Given the description of an element on the screen output the (x, y) to click on. 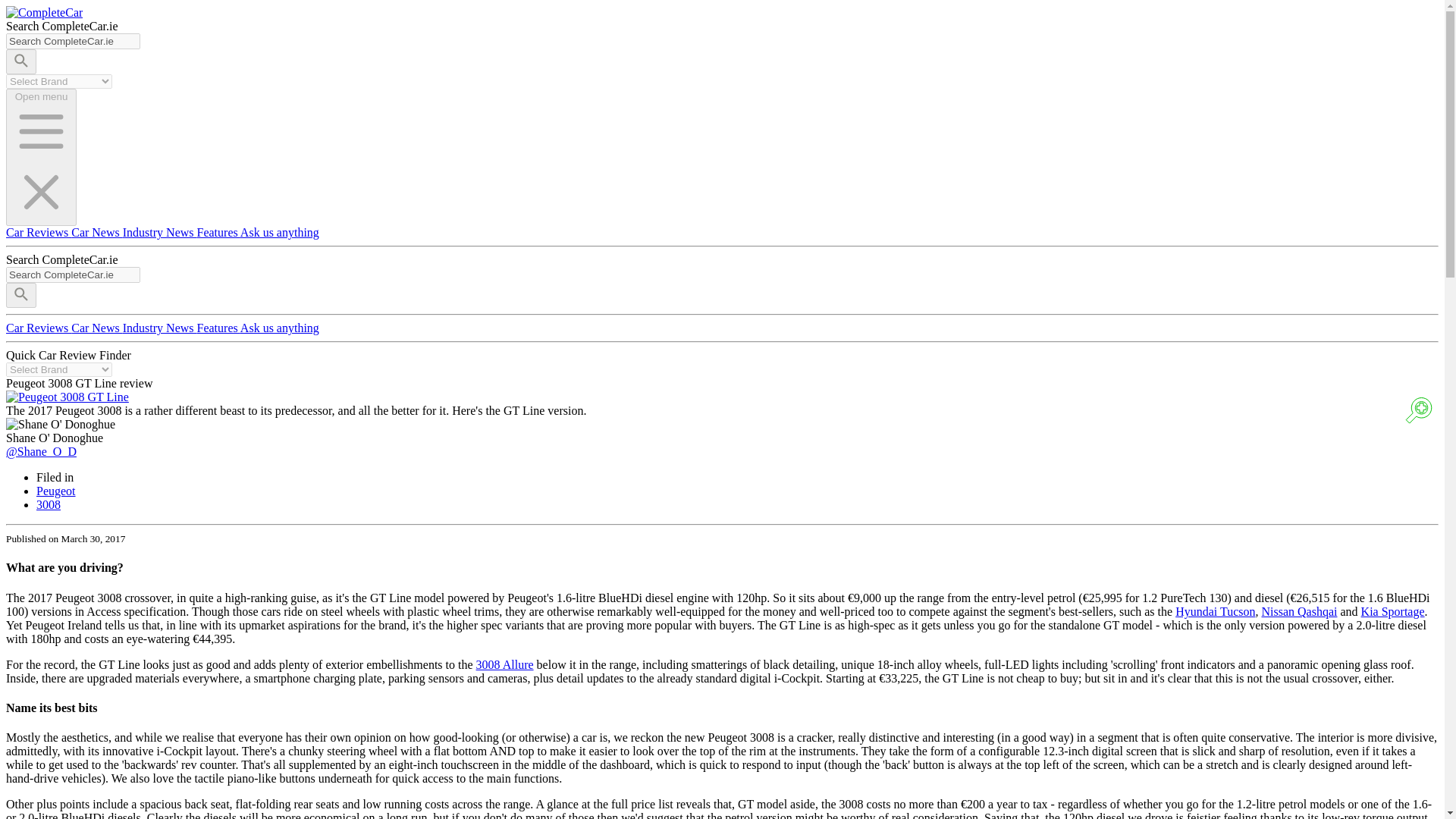
Features (218, 232)
Search CompleteCar.ie (72, 274)
Peugeot 3008 GT Line (67, 397)
Car Reviews (38, 232)
Car News (96, 327)
Ask us anything (279, 327)
Industry News (159, 232)
Industry News (159, 327)
Ask us anything (279, 232)
Features (218, 327)
